Given the description of an element on the screen output the (x, y) to click on. 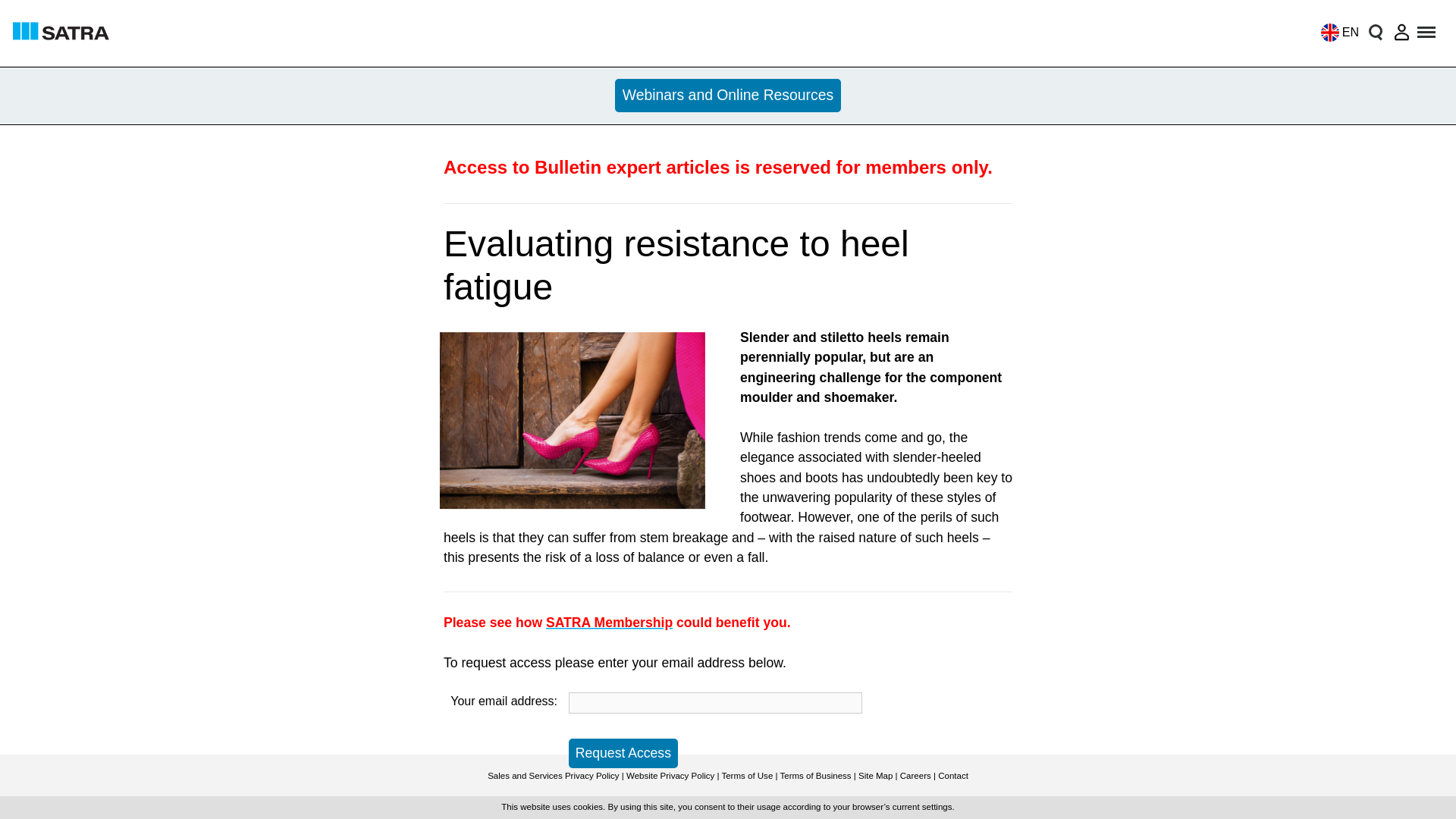
SATRA Membership (609, 622)
Search this site (1374, 32)
Request Access (623, 753)
Webinars and Online Resources (727, 95)
Change language (1335, 32)
EN (1335, 32)
Navigation menu (1427, 32)
